Given the description of an element on the screen output the (x, y) to click on. 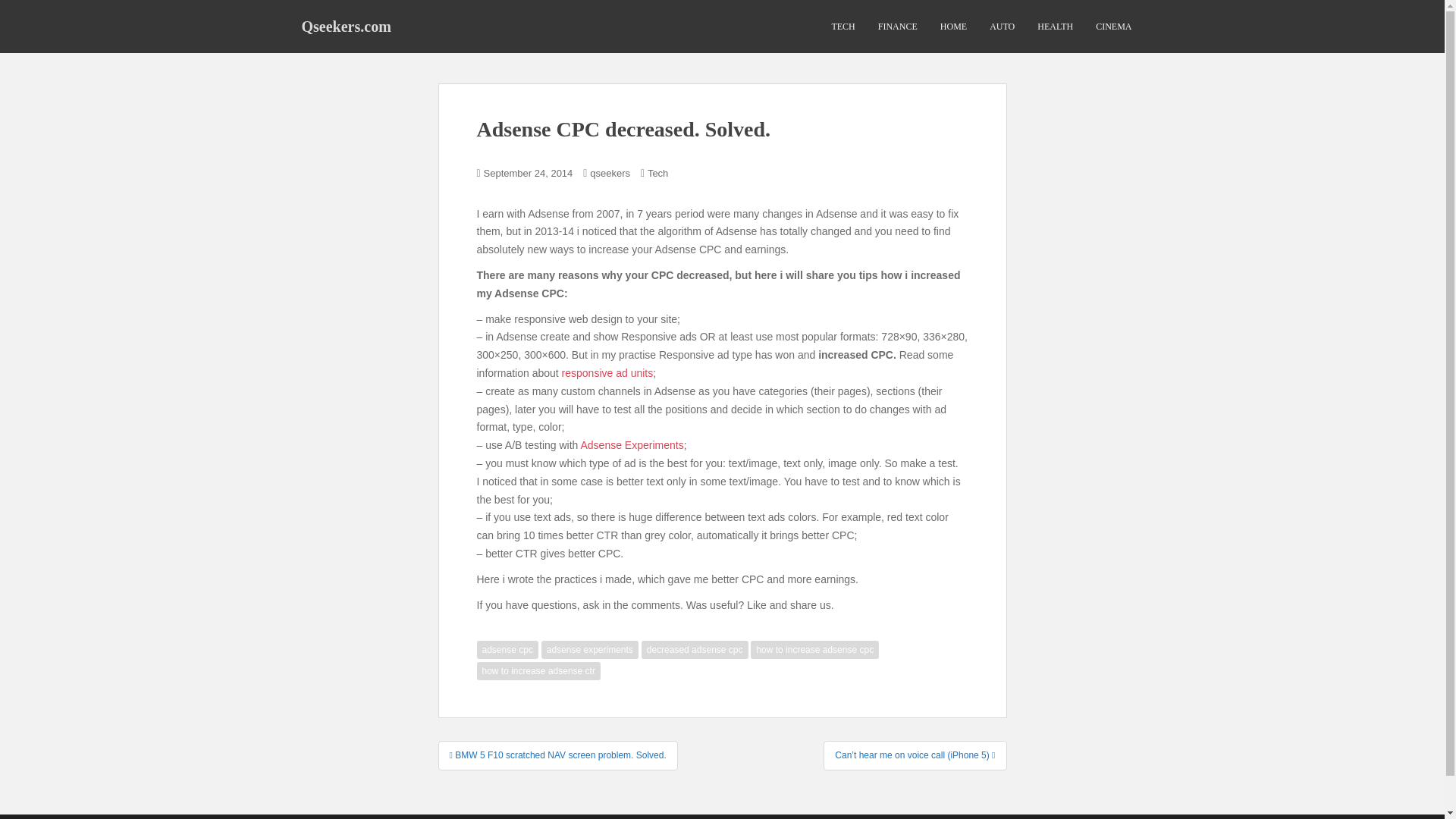
adsense experiments (590, 649)
qseekers (609, 173)
FINANCE (897, 26)
Qseekers.com (345, 26)
Adsense Experiments (630, 444)
CINEMA (1113, 26)
Responsive ad units (607, 372)
HEALTH (1054, 26)
adsense cpc (506, 649)
how to increase adsense ctr (537, 670)
Qseekers.com (345, 26)
BMW 5 F10 scratched NAV screen problem. Solved. (558, 755)
Adsense Experiments (630, 444)
decreased adsense cpc (695, 649)
responsive ad units (607, 372)
